Given the description of an element on the screen output the (x, y) to click on. 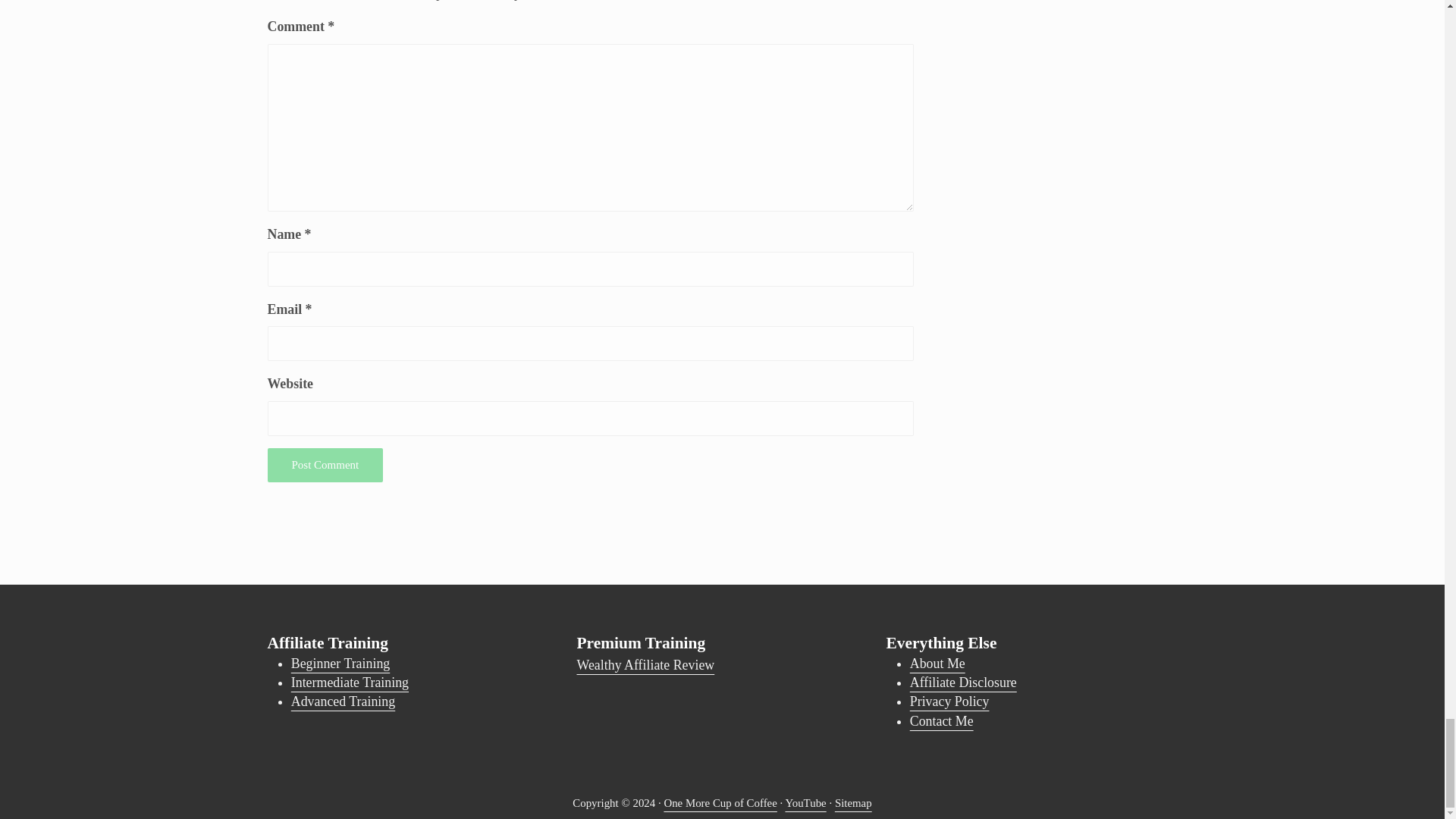
Post Comment (324, 464)
The ONE Wealthy Affiliate Review You Need To Read (645, 664)
